Given the description of an element on the screen output the (x, y) to click on. 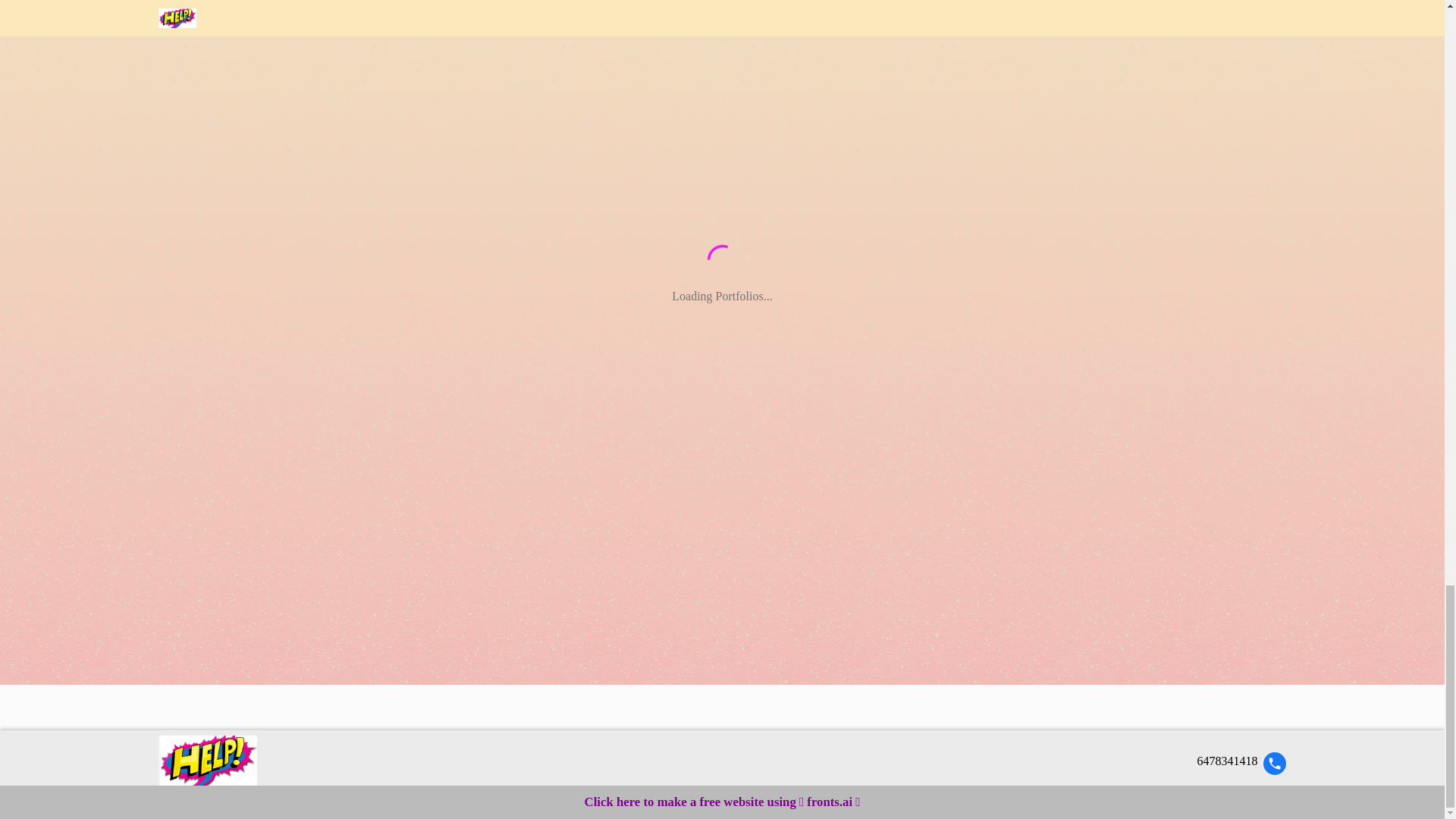
6478341418 (1240, 763)
